Given the description of an element on the screen output the (x, y) to click on. 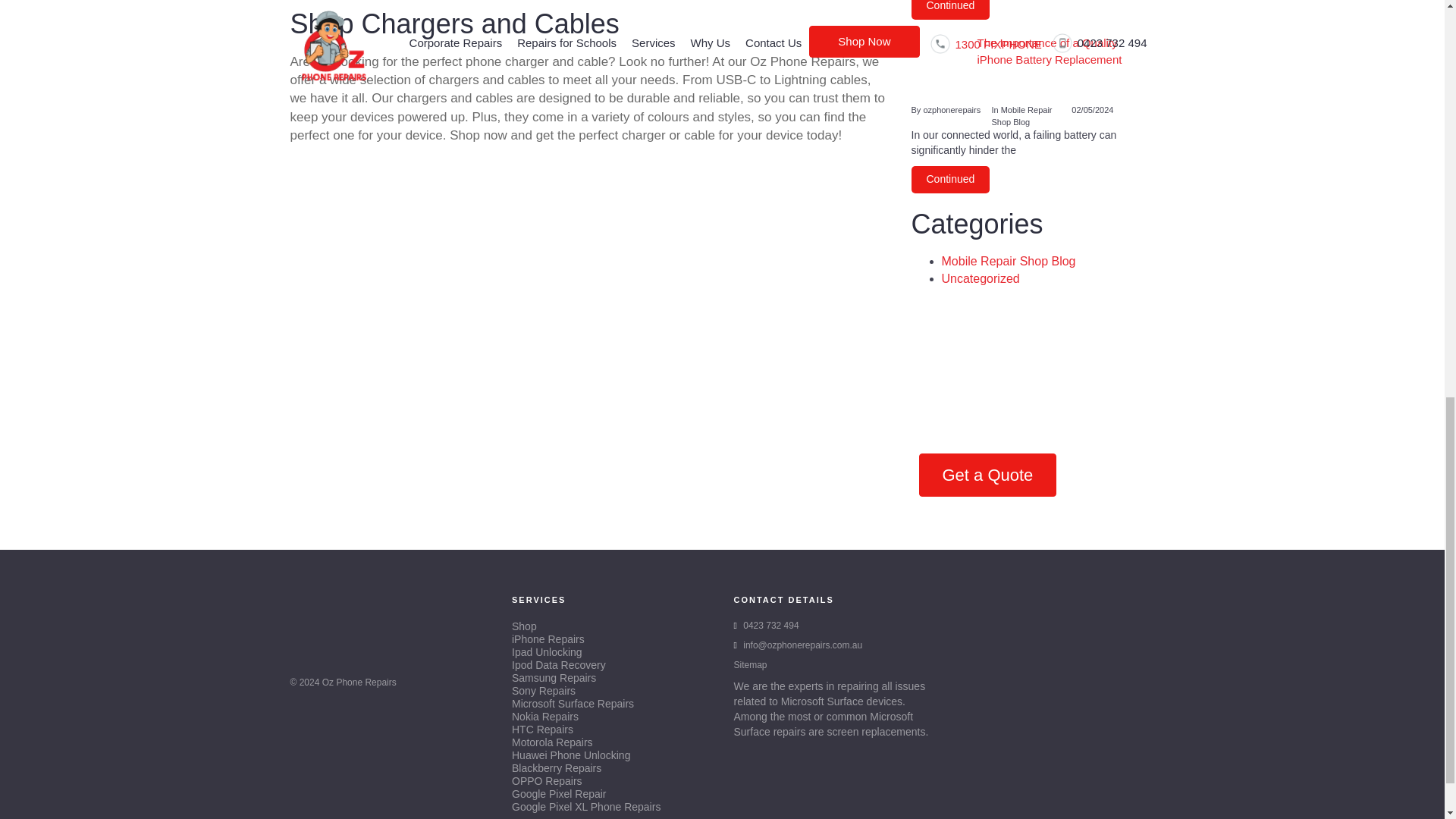
Uncategorized (981, 278)
Continued (950, 179)
Continued (950, 9)
The Importance of a Quality iPhone Battery Replacement (1032, 69)
Mobile Repair Shop Blog (1008, 260)
Oz Phone Repairs (358, 682)
Get a Quote (987, 474)
